Given the description of an element on the screen output the (x, y) to click on. 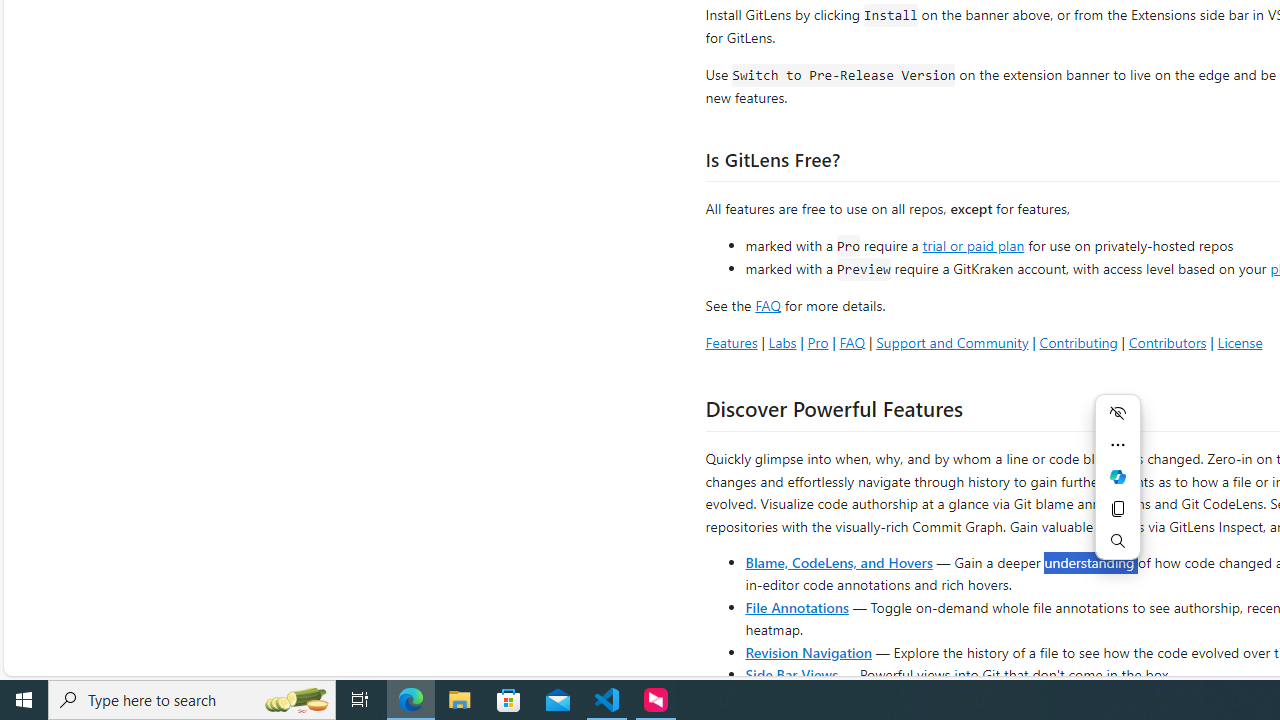
Ask Copilot (1117, 476)
Mini menu on text selection (1117, 476)
Contributors (1167, 341)
Side Bar Views (791, 673)
Revision Navigation (807, 651)
Hide menu (1117, 412)
Pro (817, 341)
Copy (1117, 508)
Contributing (1078, 341)
Labs (782, 341)
File Annotations (796, 606)
FAQ (852, 341)
Blame, CodeLens, and Hovers (838, 561)
Mini menu on text selection (1117, 488)
